Given the description of an element on the screen output the (x, y) to click on. 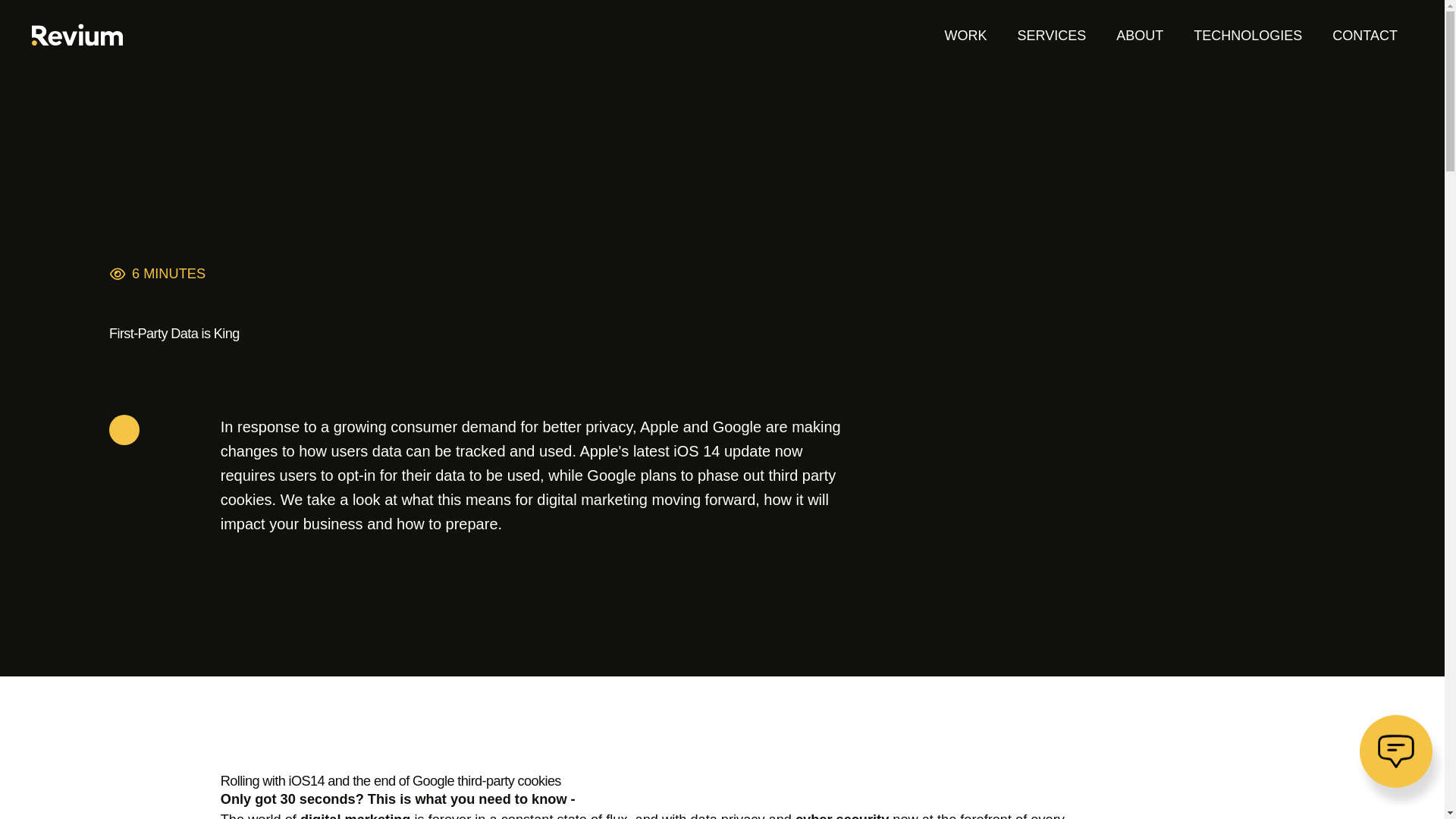
SERVICES (1052, 35)
ABOUT (1139, 35)
CONTACT (1364, 35)
cyber security (841, 815)
digital marketing (354, 815)
TECHNOLOGIES (1248, 35)
WORK (965, 35)
